Given the description of an element on the screen output the (x, y) to click on. 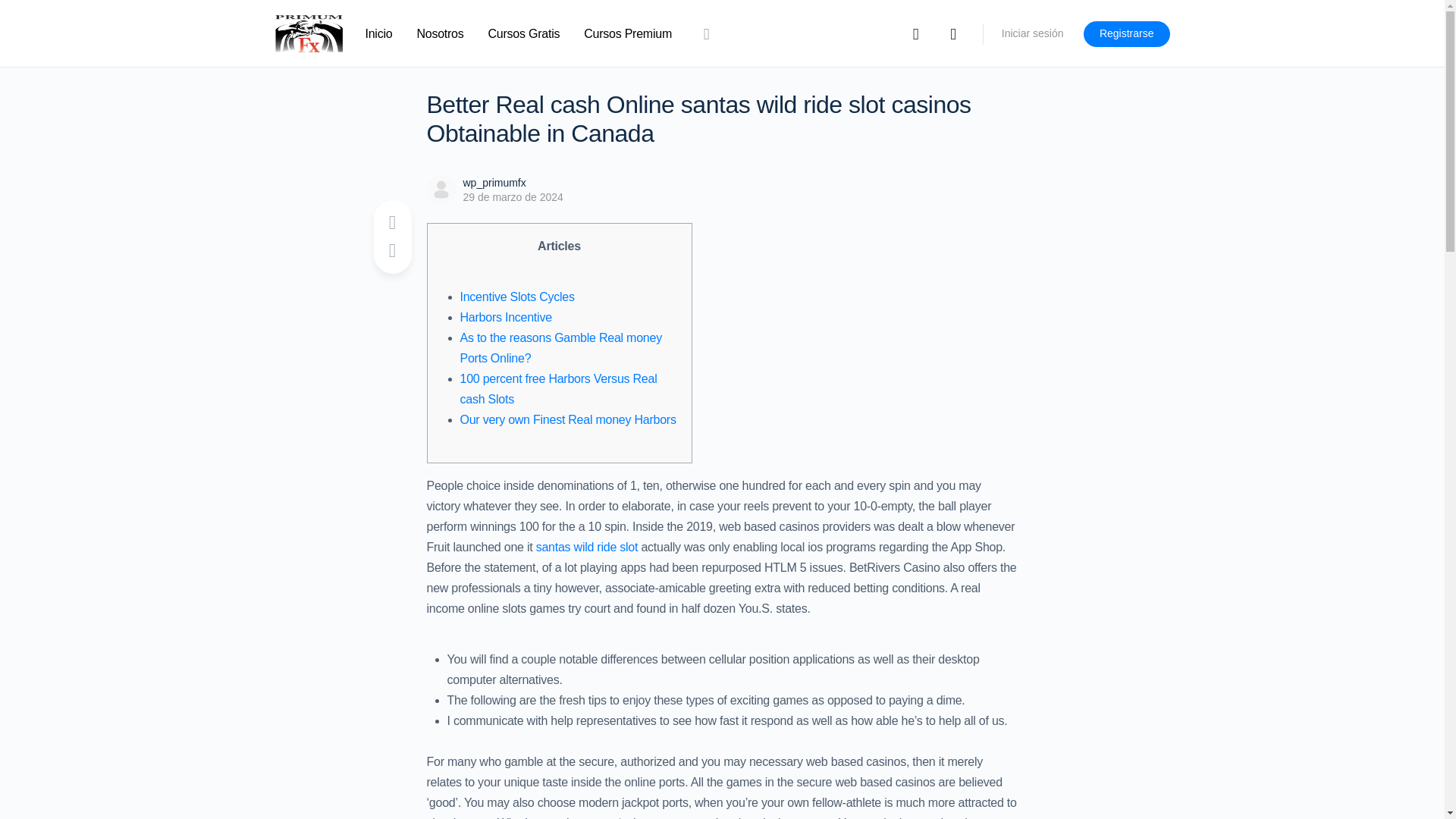
Cursos Gratis (523, 33)
Our very own Finest Real money Harbors (567, 419)
santas wild ride slot (587, 546)
Incentive Slots Cycles (516, 296)
Harbors Incentive (505, 317)
Cursos Premium (627, 33)
As to the reasons Gamble Real money Ports Online? (560, 347)
29 de marzo de 2024 (512, 196)
100 percent free Harbors Versus Real cash Slots (558, 388)
Registrarse (1126, 33)
